Given the description of an element on the screen output the (x, y) to click on. 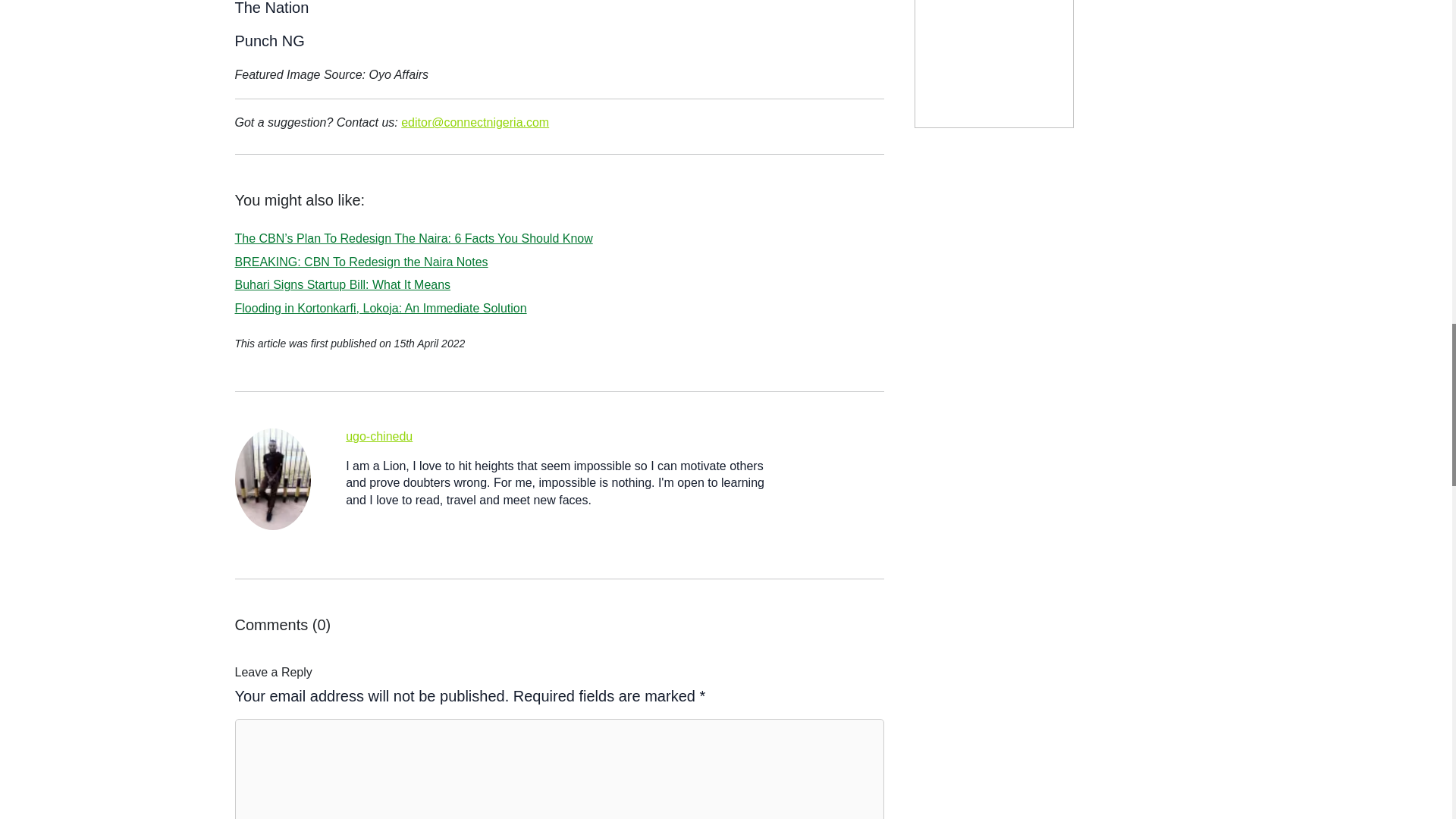
BREAKING: CBN To Redesign the Naira Notes (360, 261)
Buhari Signs Startup Bill: What It Means (342, 284)
Flooding in Kortonkarfi, Lokoja: An Immediate Solution (380, 308)
ugo-chinedu (379, 436)
